Given the description of an element on the screen output the (x, y) to click on. 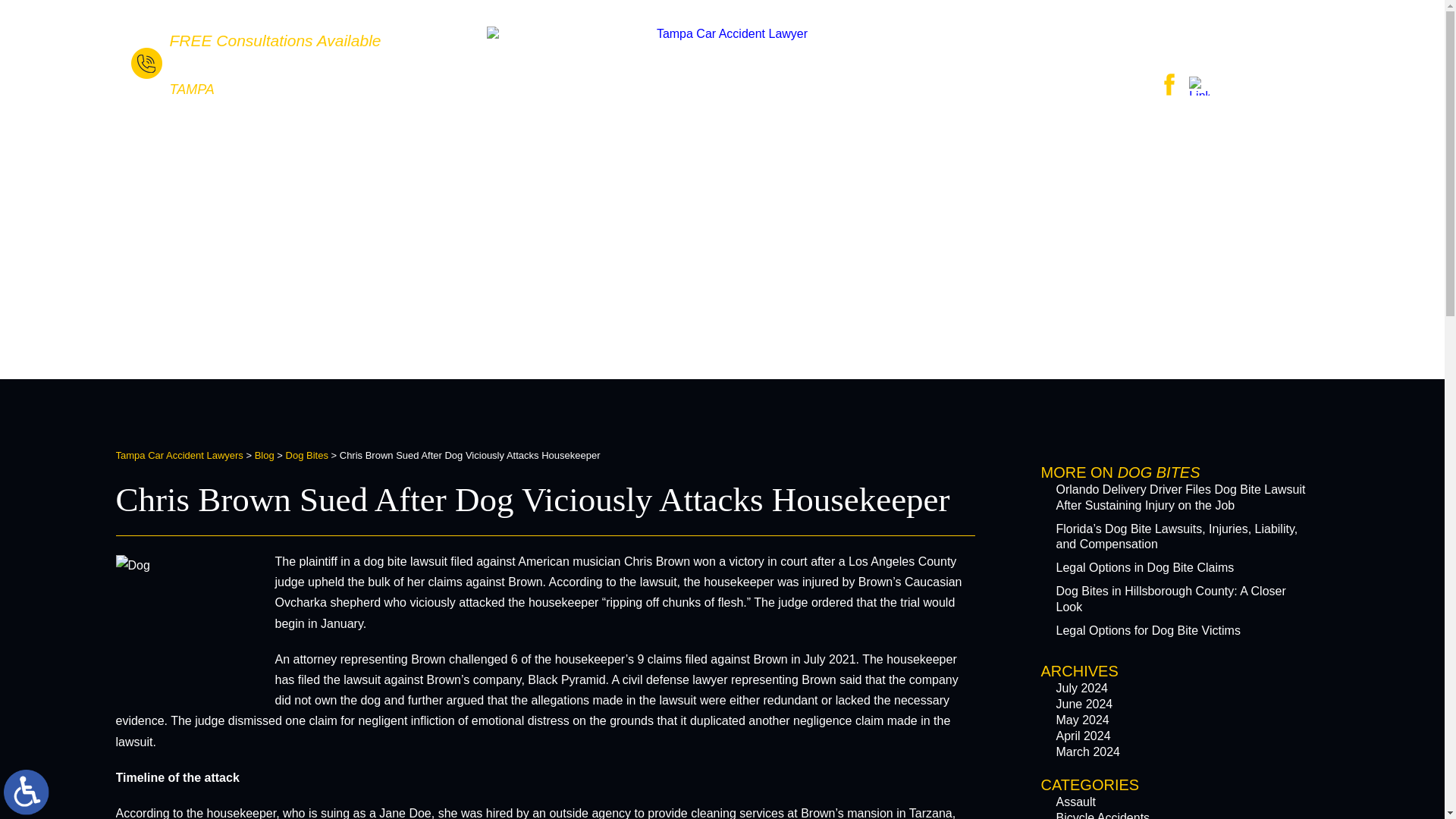
CONTACT US NOW (1191, 45)
813-217-5715 (249, 65)
Switch to ADA Accessible Theme (26, 791)
OUR FIRM (523, 138)
Dog (190, 630)
HOME (413, 138)
PRACTICE AREAS (677, 138)
